Given the description of an element on the screen output the (x, y) to click on. 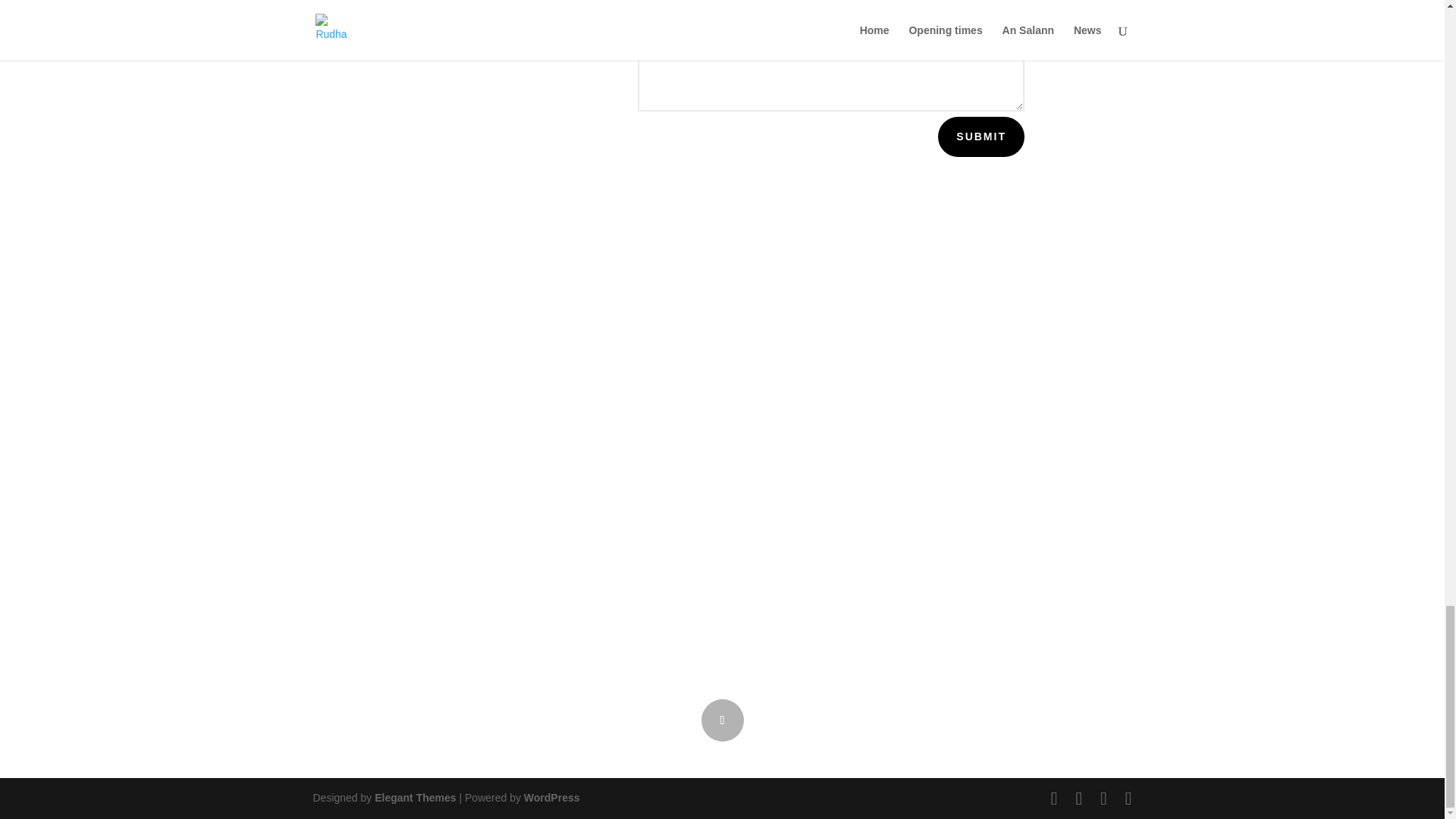
Elegant Themes (414, 797)
SUBMIT (981, 136)
WordPress (551, 797)
Follow on Instagram (721, 720)
Premium WordPress Themes (414, 797)
